Given the description of an element on the screen output the (x, y) to click on. 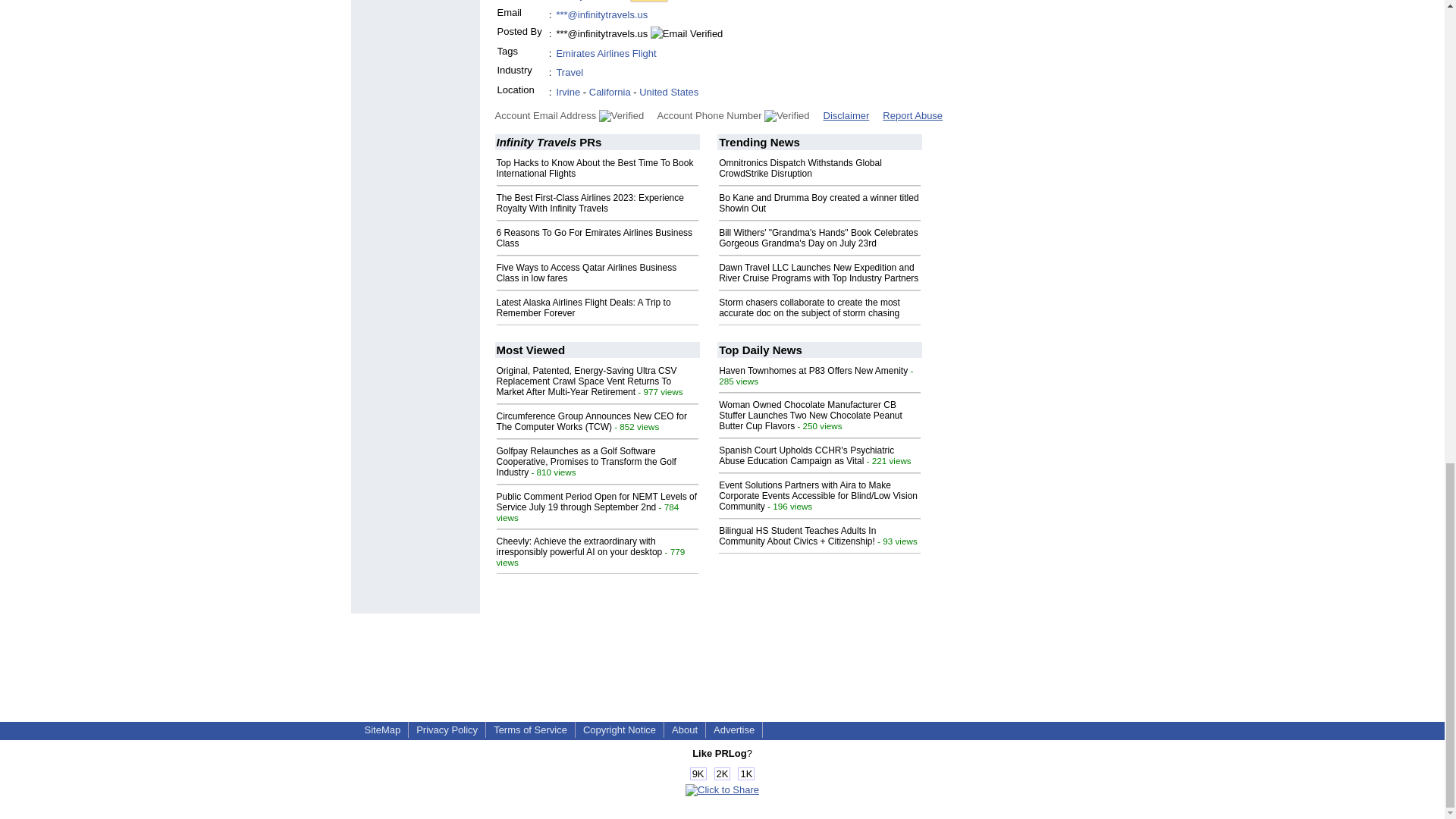
Share this page! (721, 789)
Verified (786, 115)
Email Verified (686, 33)
Verified (620, 115)
